Given the description of an element on the screen output the (x, y) to click on. 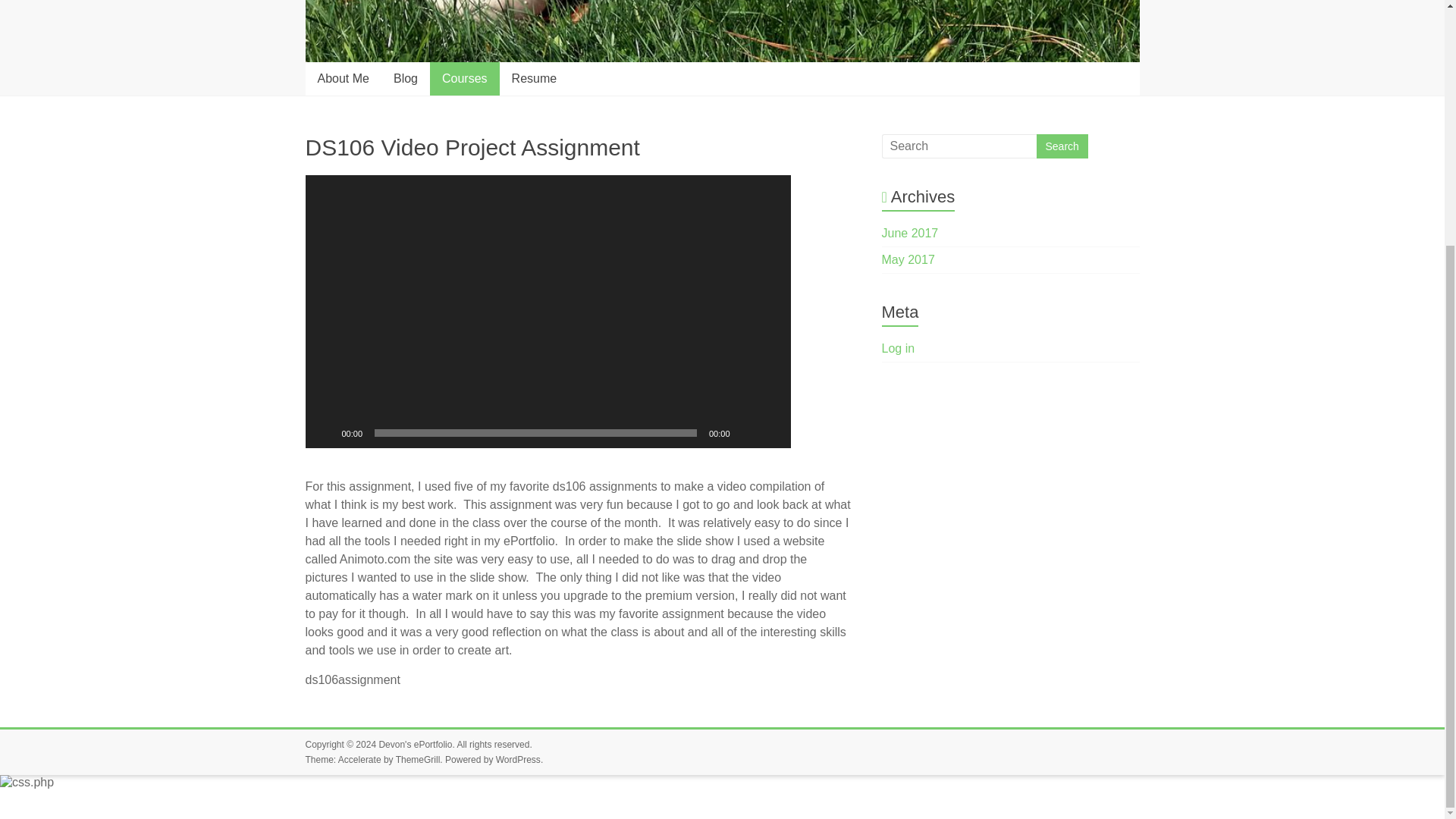
Courses (464, 78)
June 2017 (910, 232)
Resume (534, 78)
Accelerate (359, 759)
WordPress (518, 759)
Mute (746, 432)
May 2017 (908, 259)
Blog (405, 78)
Search (1061, 146)
Log in (898, 348)
Devon's ePortfolio (414, 744)
Play (324, 432)
About Me (342, 78)
Fullscreen (769, 432)
Search (1061, 146)
